Given the description of an element on the screen output the (x, y) to click on. 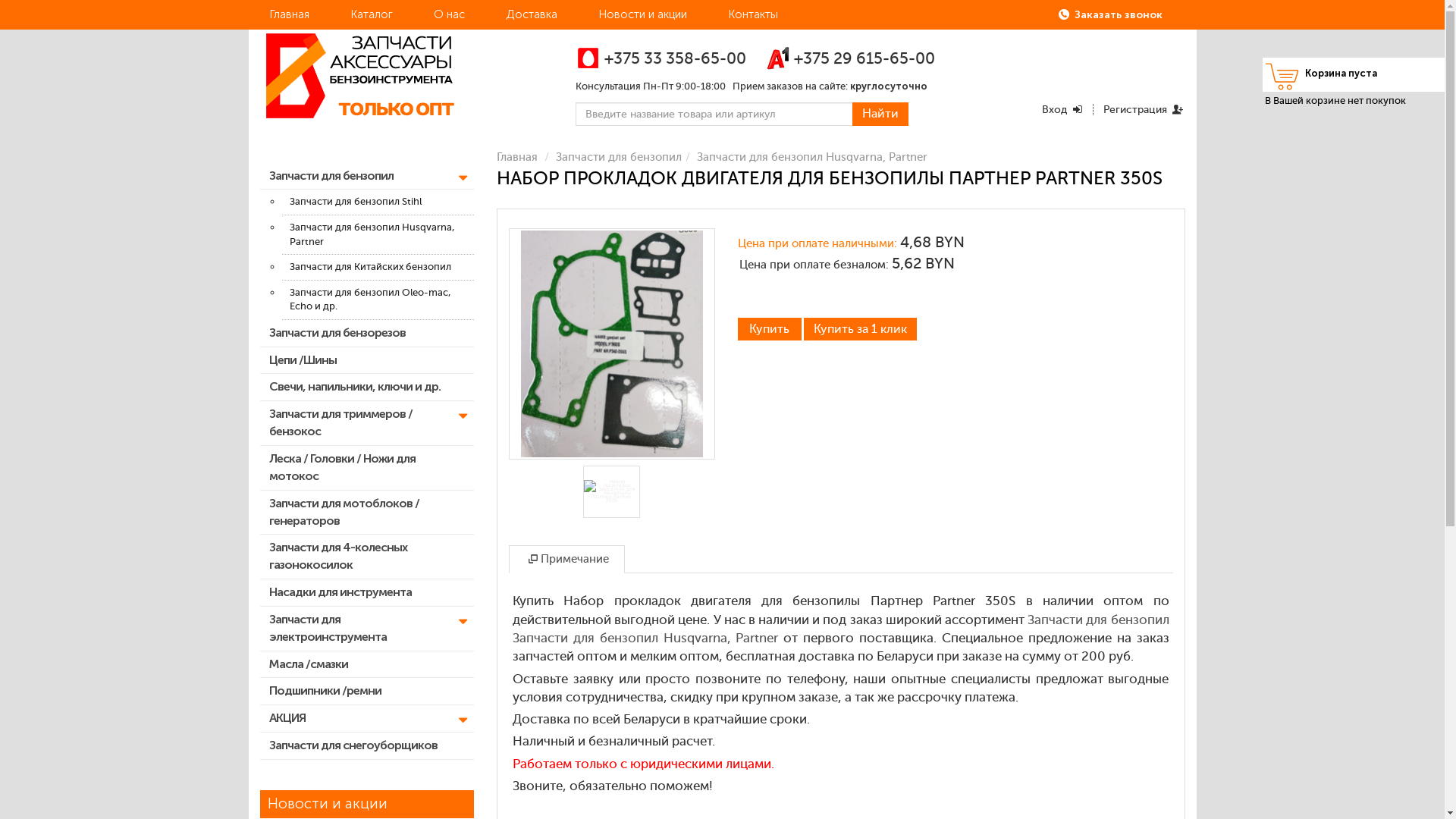
+375 29 615-65-00 Element type: text (850, 58)
+375 33 358-65-00 Element type: text (660, 58)
http://benzopart.by Element type: hover (388, 90)
